Given the description of an element on the screen output the (x, y) to click on. 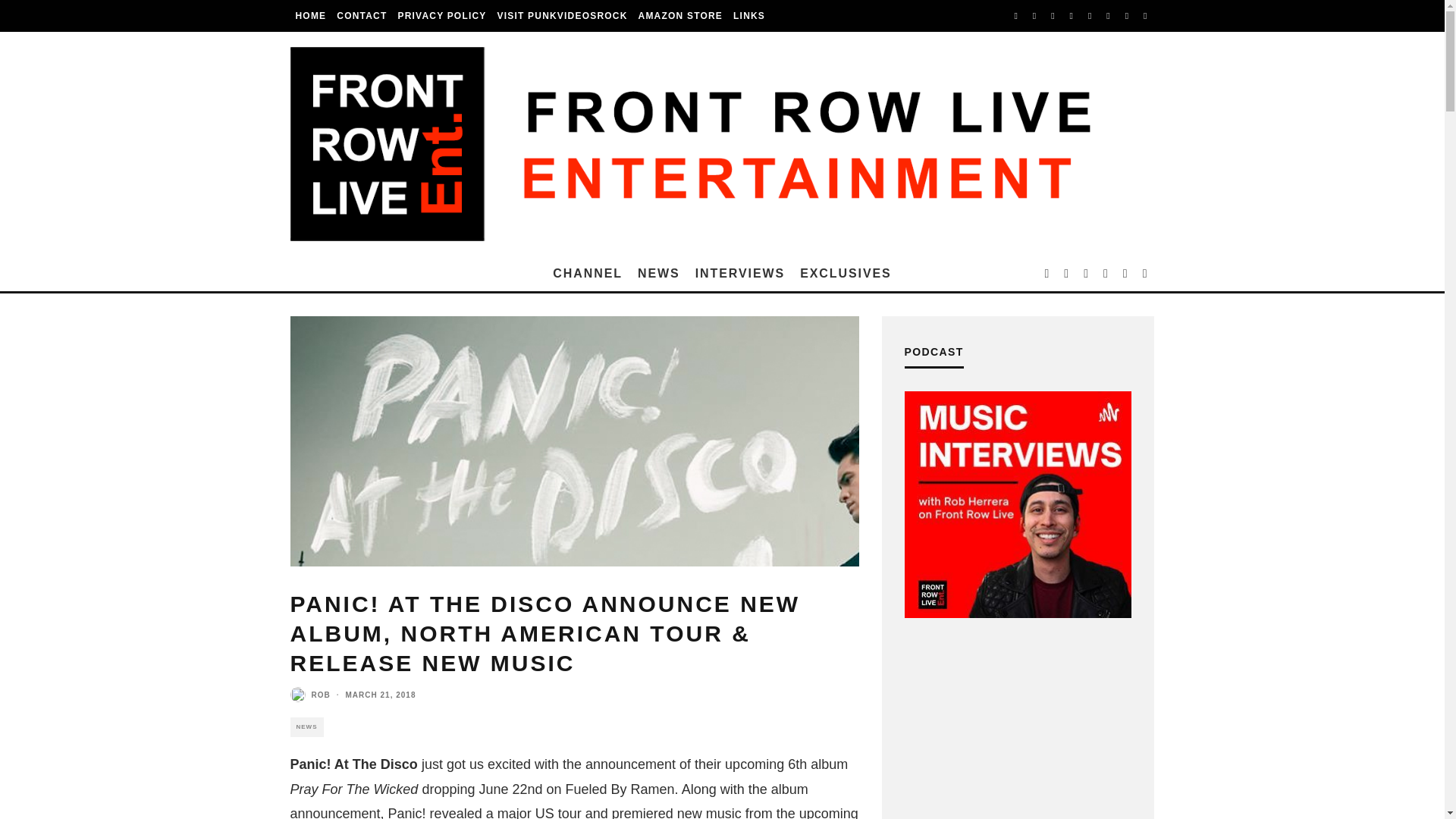
HOME (310, 15)
PRIVACY POLICY (441, 15)
AMAZON STORE (681, 15)
Advertisement (1017, 737)
INTERVIEWS (739, 273)
NEWS (658, 273)
CONTACT (361, 15)
VISIT PUNKVIDEOSROCK (562, 15)
LINKS (749, 15)
CHANNEL (587, 273)
EXCLUSIVES (845, 273)
